Given the description of an element on the screen output the (x, y) to click on. 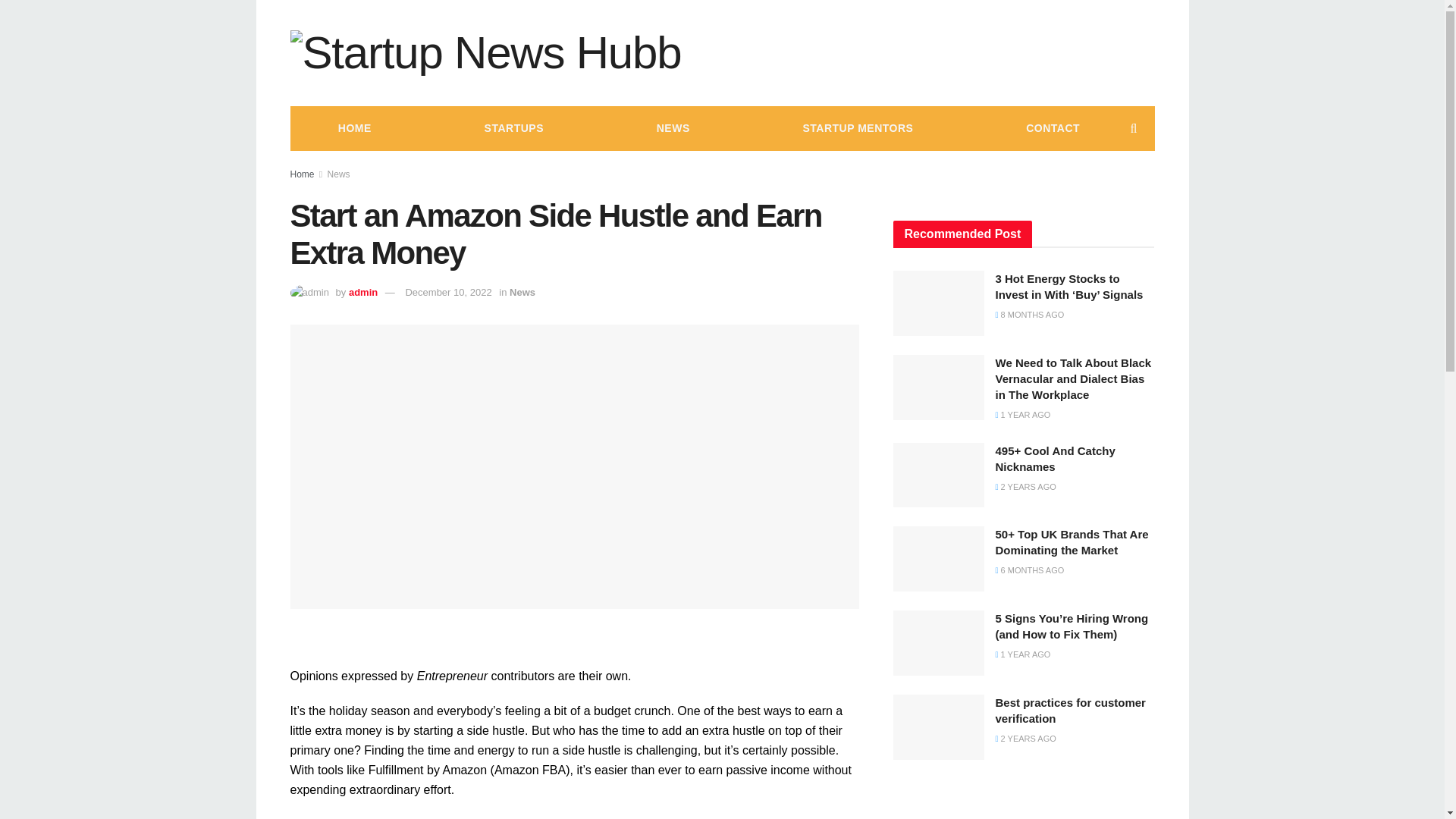
News (522, 292)
STARTUPS (513, 127)
NEWS (673, 127)
CONTACT (1053, 127)
admin (363, 292)
December 10, 2022 (448, 292)
Home (301, 173)
News (338, 173)
side hustle (494, 730)
HOME (354, 127)
STARTUP MENTORS (857, 127)
